Given the description of an element on the screen output the (x, y) to click on. 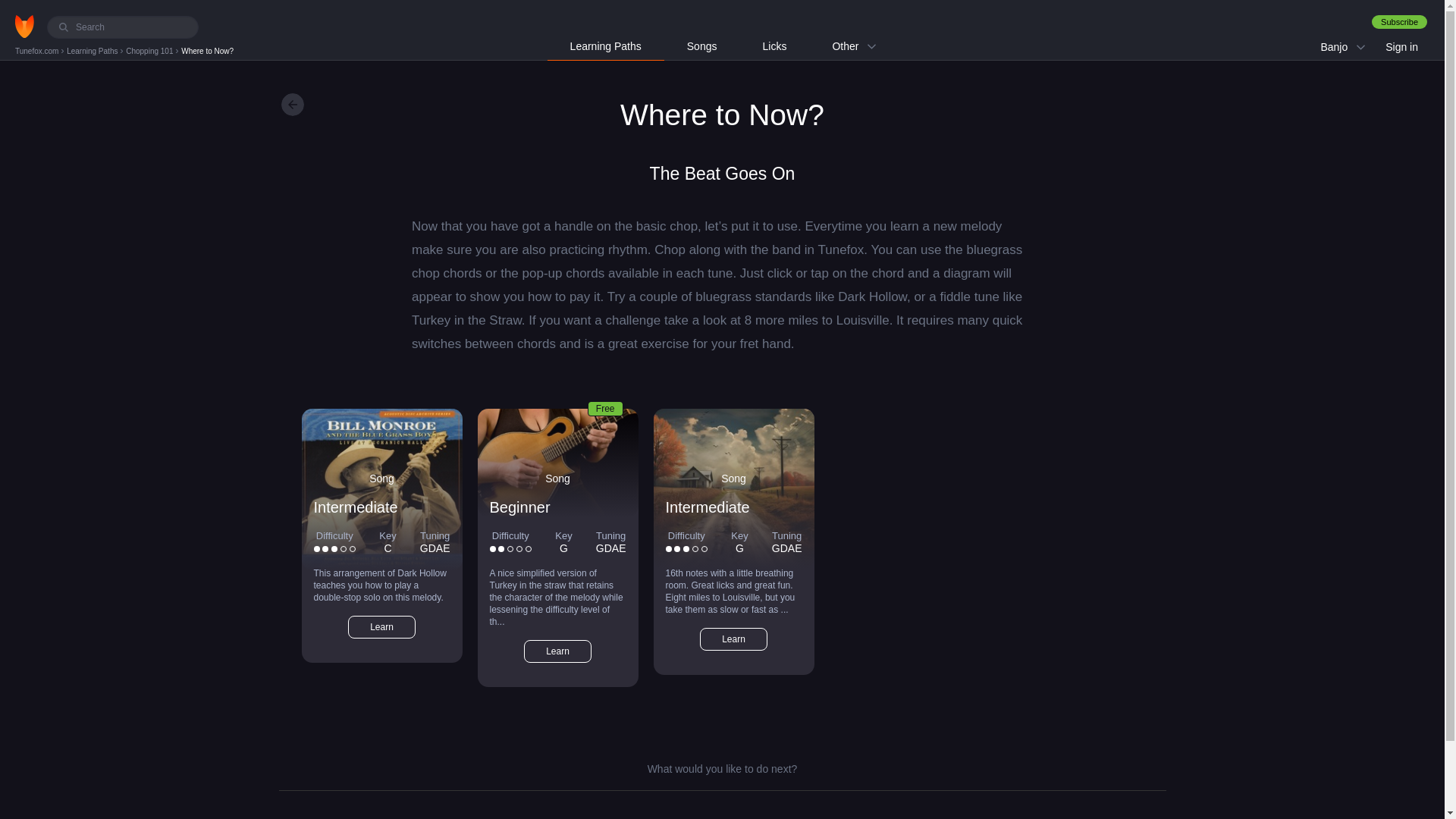
Learn (380, 626)
Chopping 101 (149, 50)
Licks (774, 45)
Learning Paths (92, 50)
Chopping 101 (149, 50)
Sign up (1398, 21)
Sign in (1401, 46)
Tunefox.com (37, 50)
Beginner (519, 506)
 Learning Paths (92, 50)
